Given the description of an element on the screen output the (x, y) to click on. 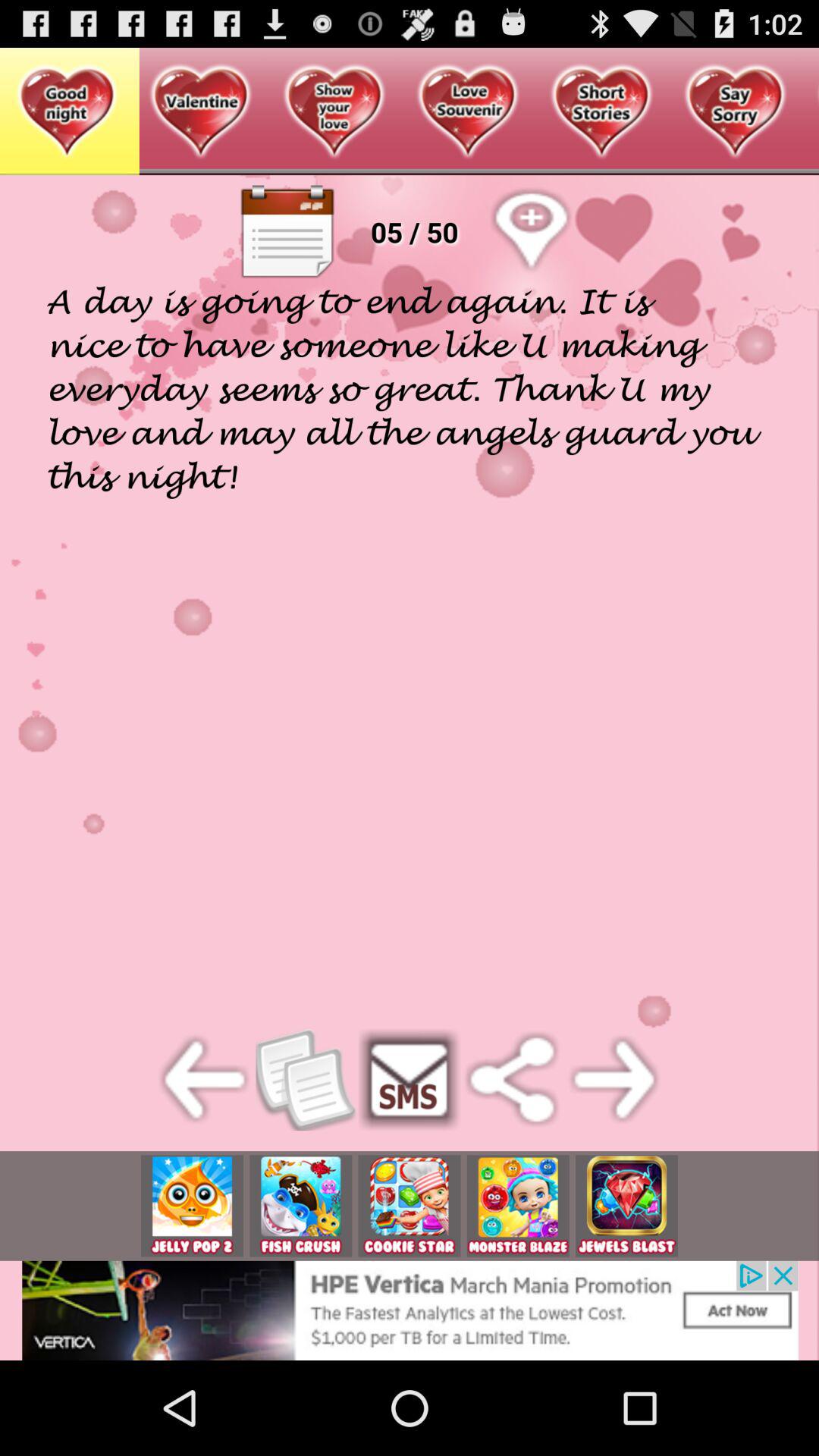
sms button (409, 1079)
